Given the description of an element on the screen output the (x, y) to click on. 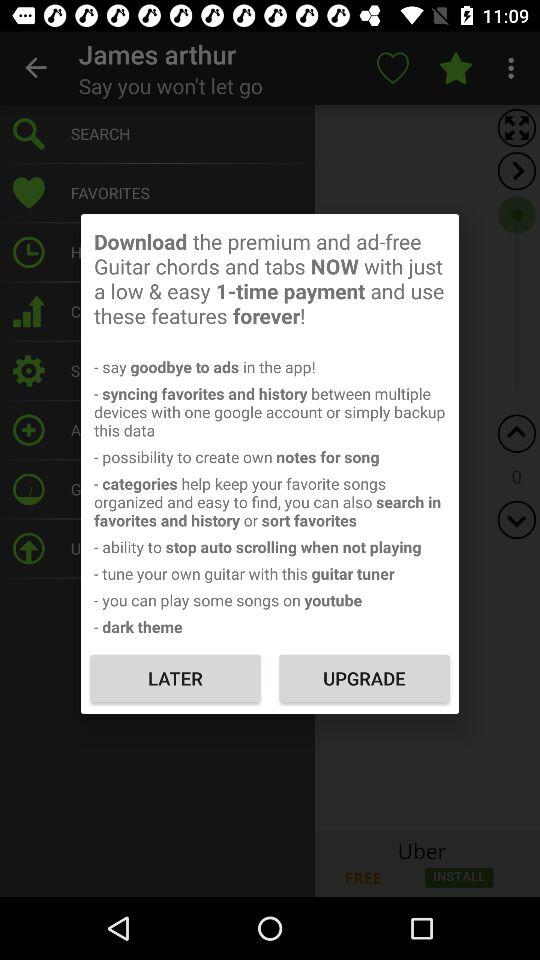
turn on item next to upgrade item (175, 677)
